Given the description of an element on the screen output the (x, y) to click on. 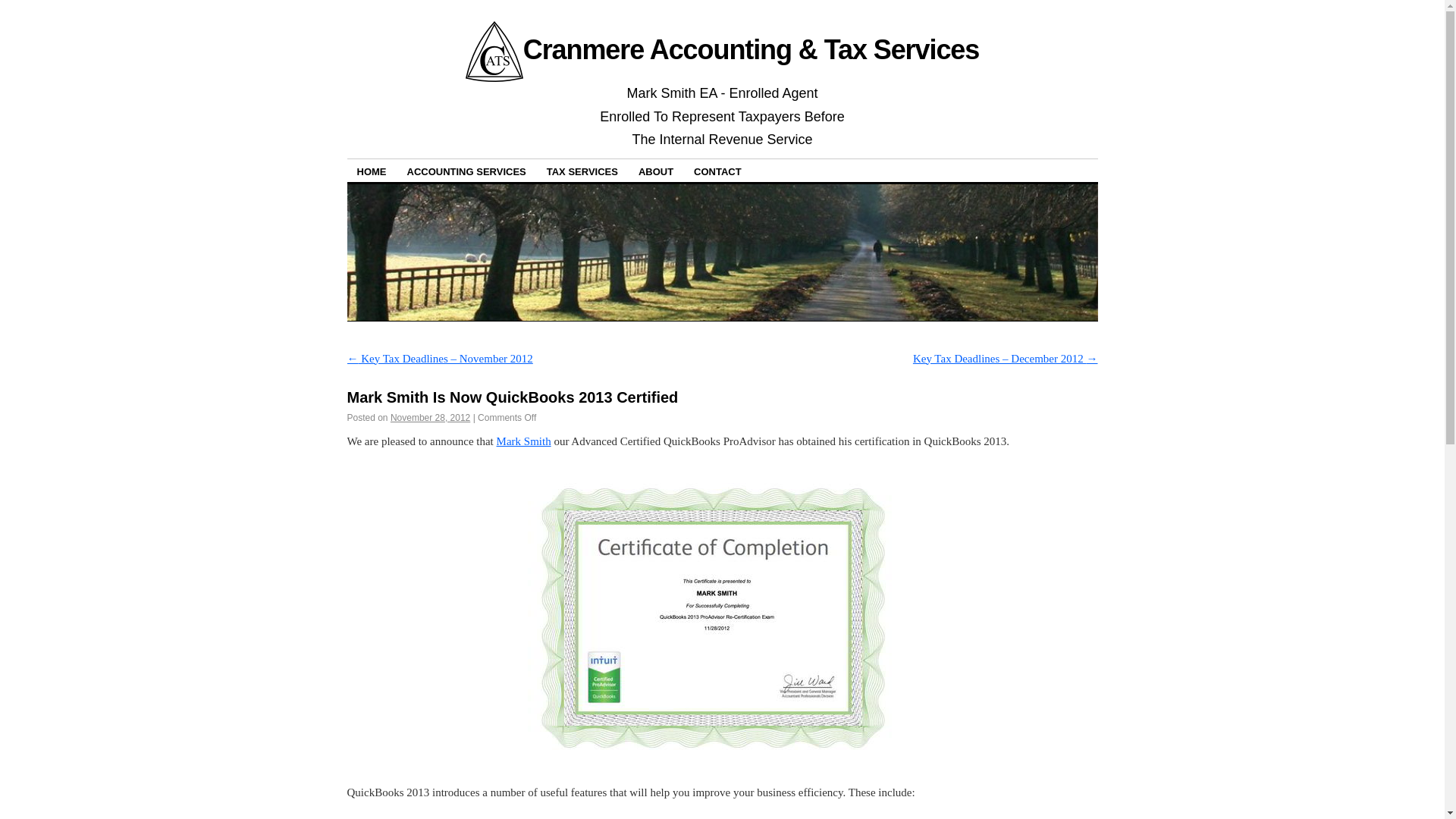
11:37 AM (430, 417)
TAX SERVICES (582, 170)
November 28, 2012 (430, 417)
HOME (371, 170)
About Mark Smith, Advanced Certified QuickBooks ProAdvisor (523, 440)
CONTACT (717, 170)
ACCOUNTING SERVICES (466, 170)
Mark Smith (523, 440)
ABOUT (655, 170)
QuickBooks 2013 Certificate (717, 616)
